Given the description of an element on the screen output the (x, y) to click on. 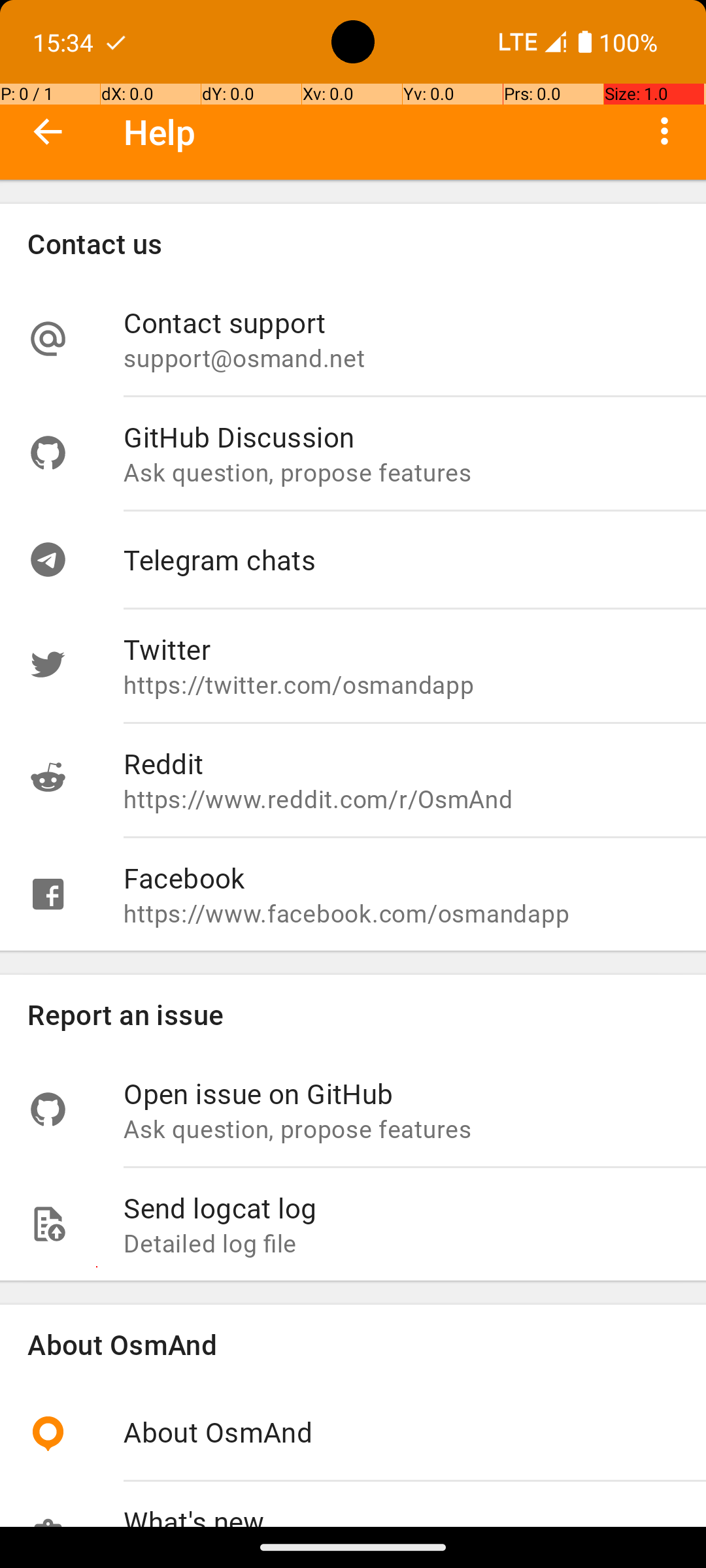
More actions Element type: android.widget.Button (664, 131)
Contact us Element type: android.widget.TextView (352, 242)
Contact support Element type: android.widget.TextView (400, 322)
support@osmand.net Element type: android.widget.TextView (400, 357)
GitHub Discussion Element type: android.widget.TextView (400, 436)
Ask question, propose features Element type: android.widget.TextView (400, 471)
Telegram chats Element type: android.widget.TextView (400, 559)
Twitter Element type: android.widget.TextView (400, 648)
https://twitter.com/osmandapp Element type: android.widget.TextView (400, 684)
https://www.reddit.com/r/OsmAnd Element type: android.widget.TextView (400, 798)
https://www.facebook.com/osmandapp Element type: android.widget.TextView (400, 912)
Report an issue Element type: android.widget.TextView (352, 1013)
Open issue on GitHub Element type: android.widget.TextView (400, 1092)
Send logcat log Element type: android.widget.TextView (400, 1207)
Detailed log file Element type: android.widget.TextView (400, 1242)
About OsmAnd Element type: android.widget.TextView (352, 1343)
What's new Element type: android.widget.TextView (400, 1514)
